Given the description of an element on the screen output the (x, y) to click on. 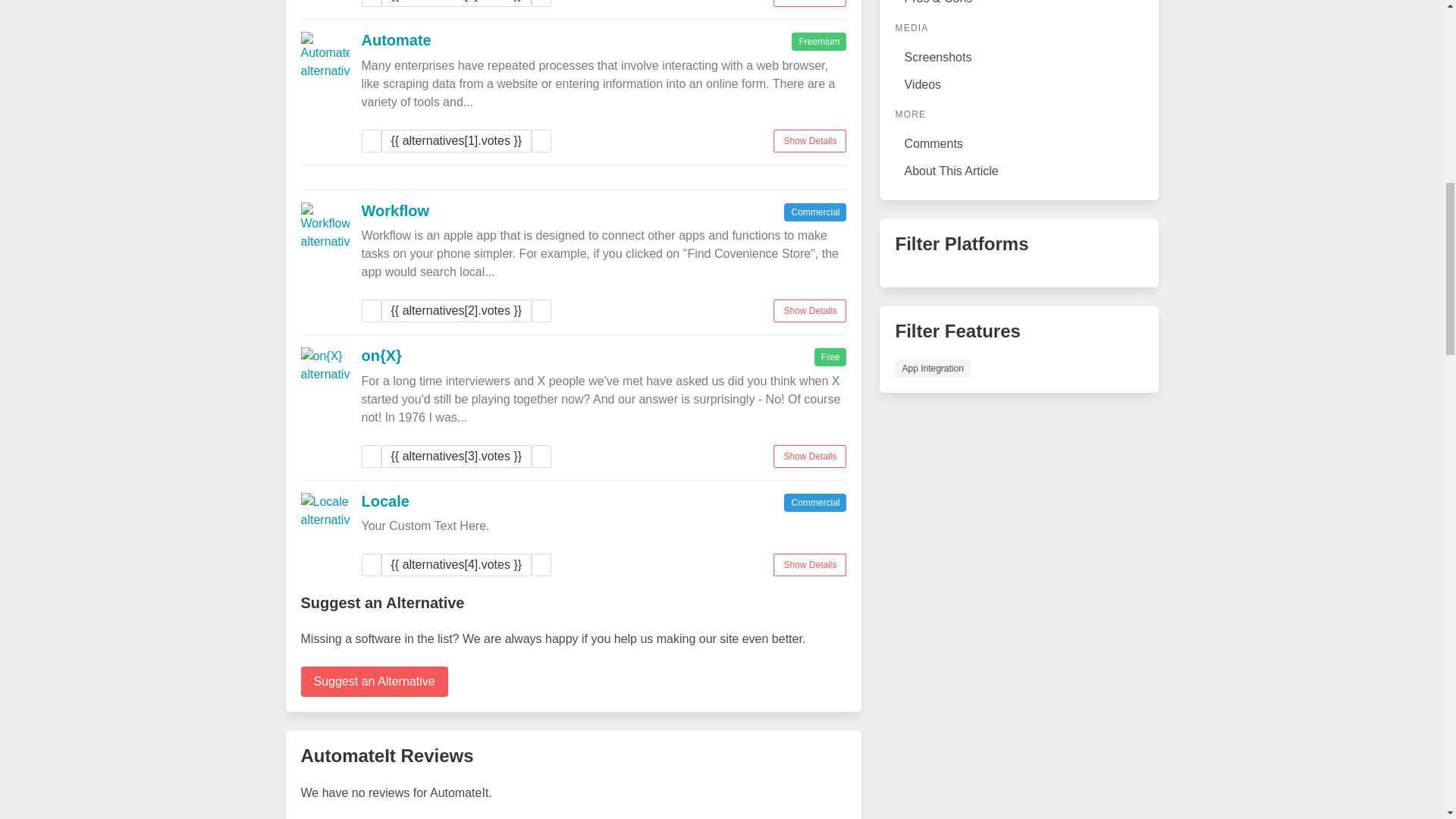
Show Details (809, 455)
Show Details (809, 139)
Show Details (809, 564)
Workflow (395, 209)
Automate (395, 39)
Locale (385, 501)
Show Details (809, 310)
Show Details (809, 3)
